Given the description of an element on the screen output the (x, y) to click on. 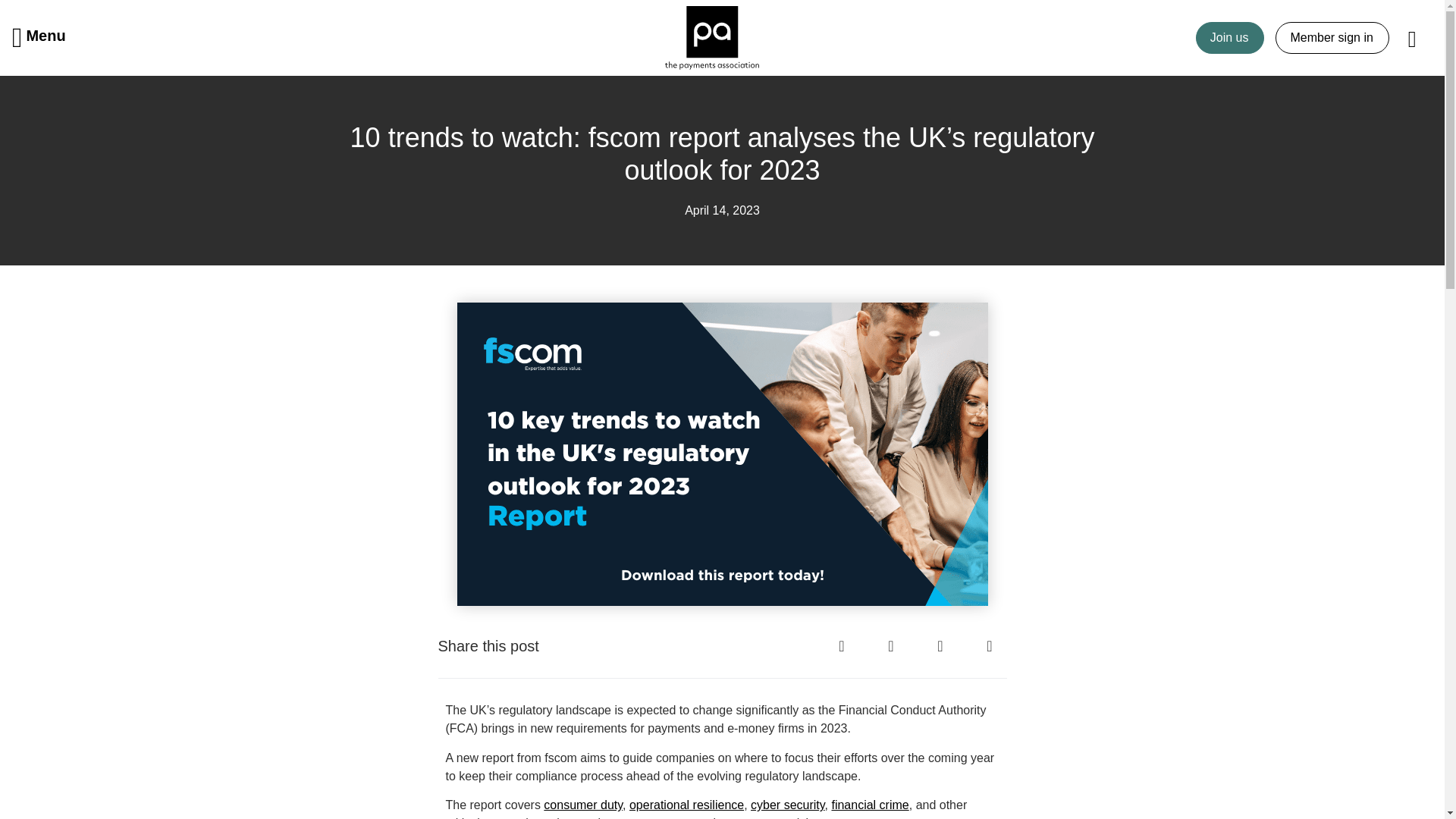
Member sign in (1332, 37)
April 14, 2023 (722, 210)
Menu (39, 37)
financial crime (869, 804)
consumer duty (583, 804)
Join us (1230, 37)
cyber security (788, 804)
operational resilience (686, 804)
